Given the description of an element on the screen output the (x, y) to click on. 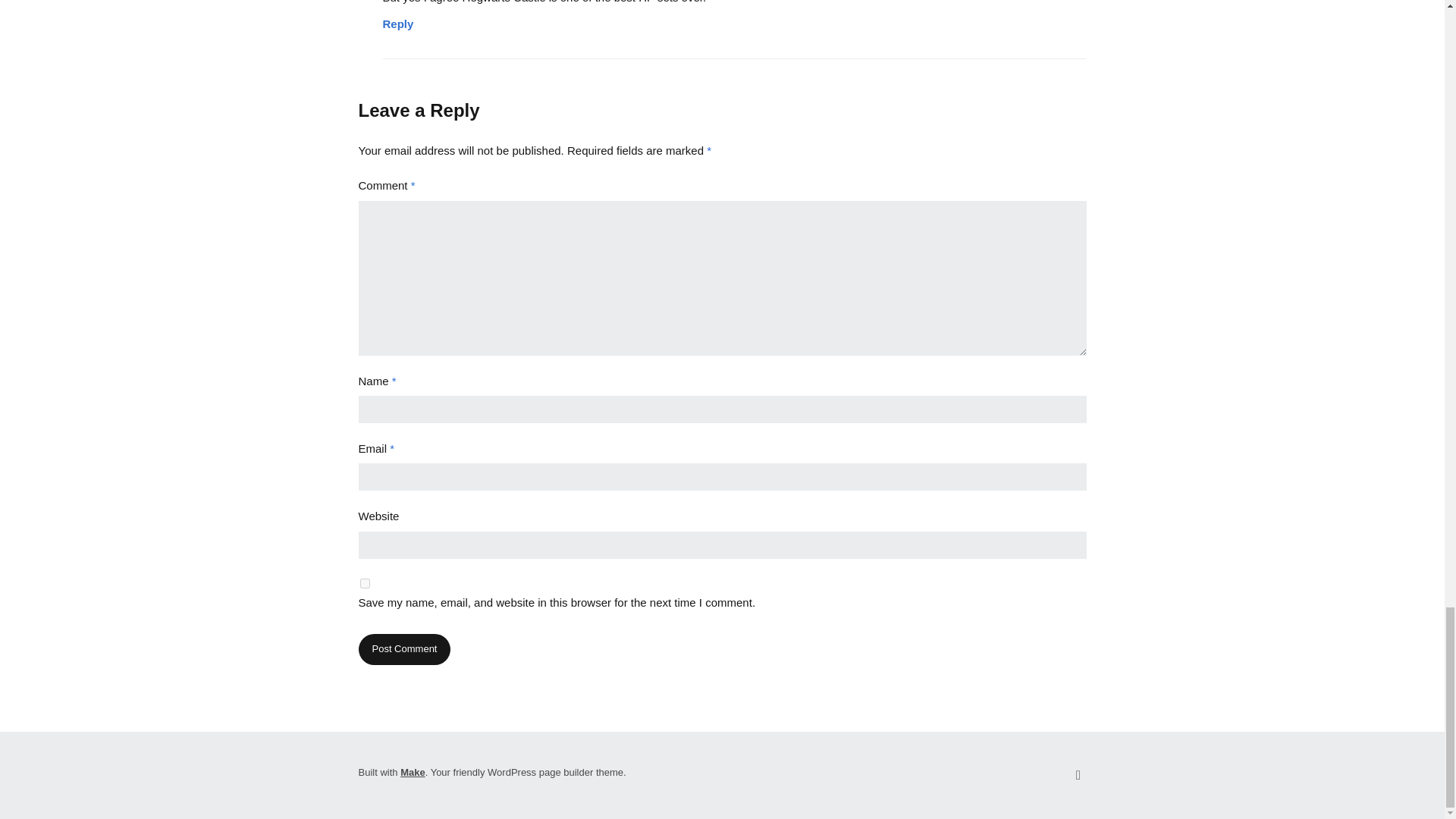
Reply (397, 19)
Make (412, 772)
Post Comment (403, 649)
yes (364, 583)
Post Comment (403, 649)
